Given the description of an element on the screen output the (x, y) to click on. 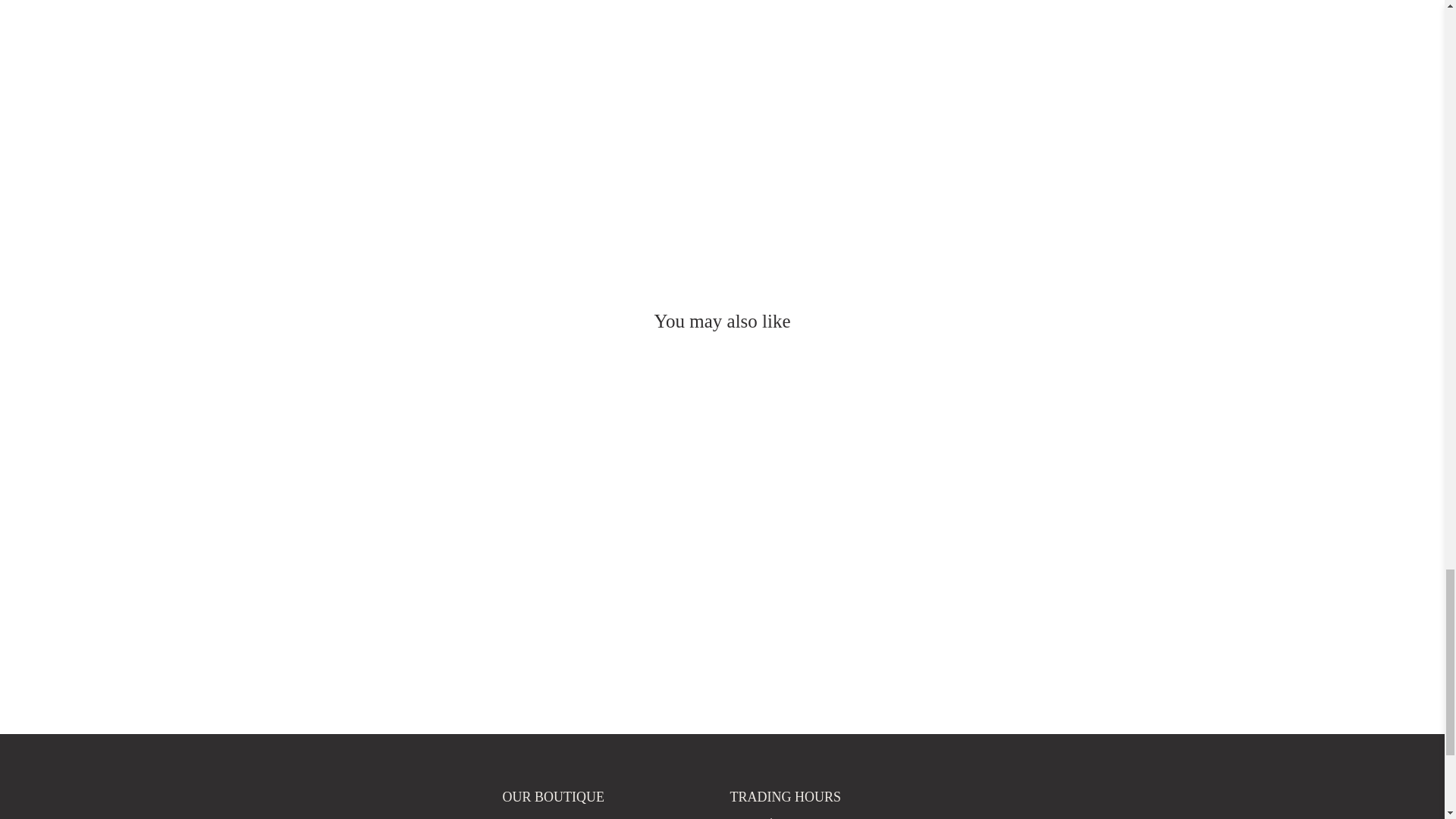
Klemenza (338, 803)
